Given the description of an element on the screen output the (x, y) to click on. 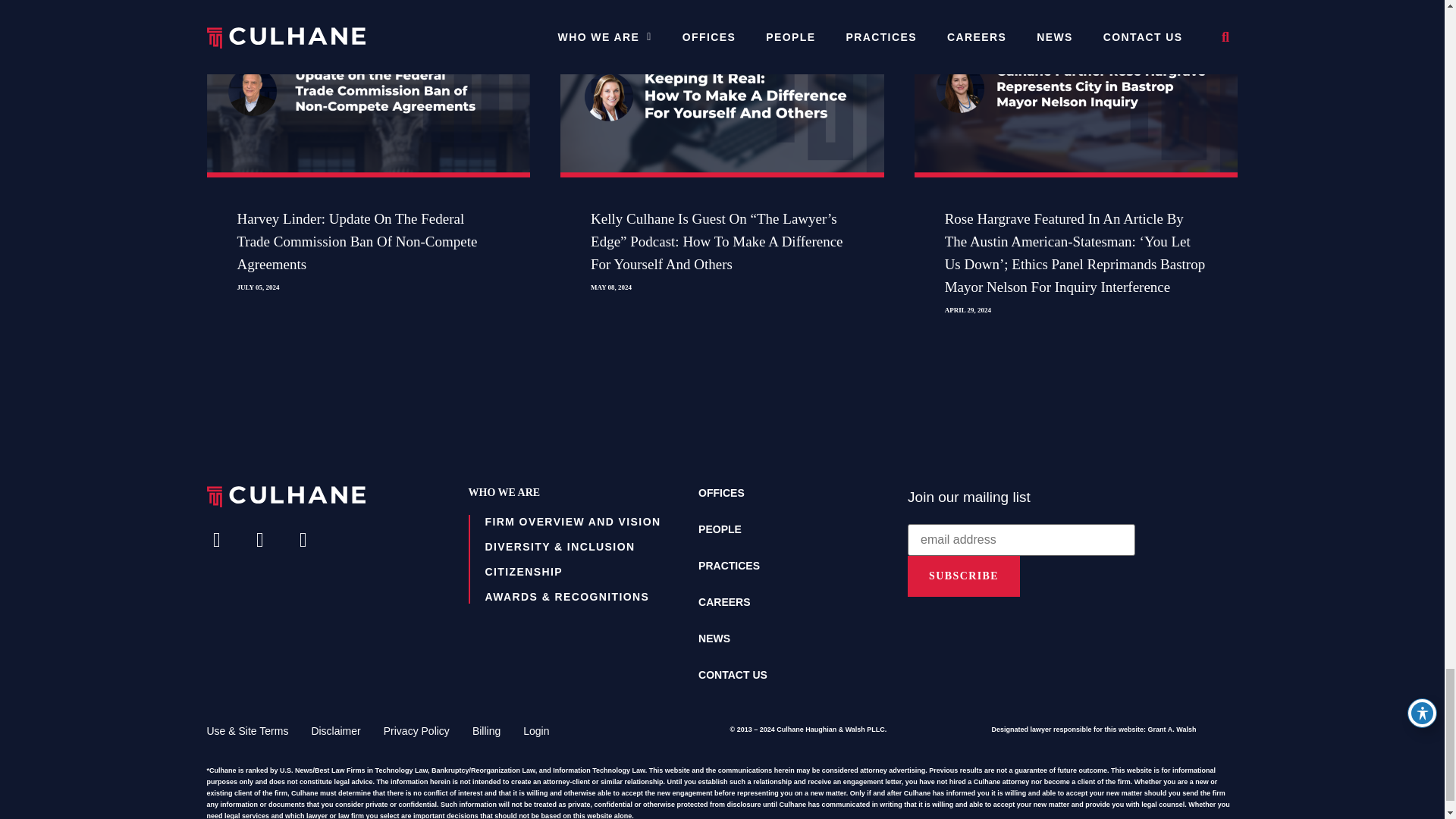
Subscribe (963, 576)
